Given the description of an element on the screen output the (x, y) to click on. 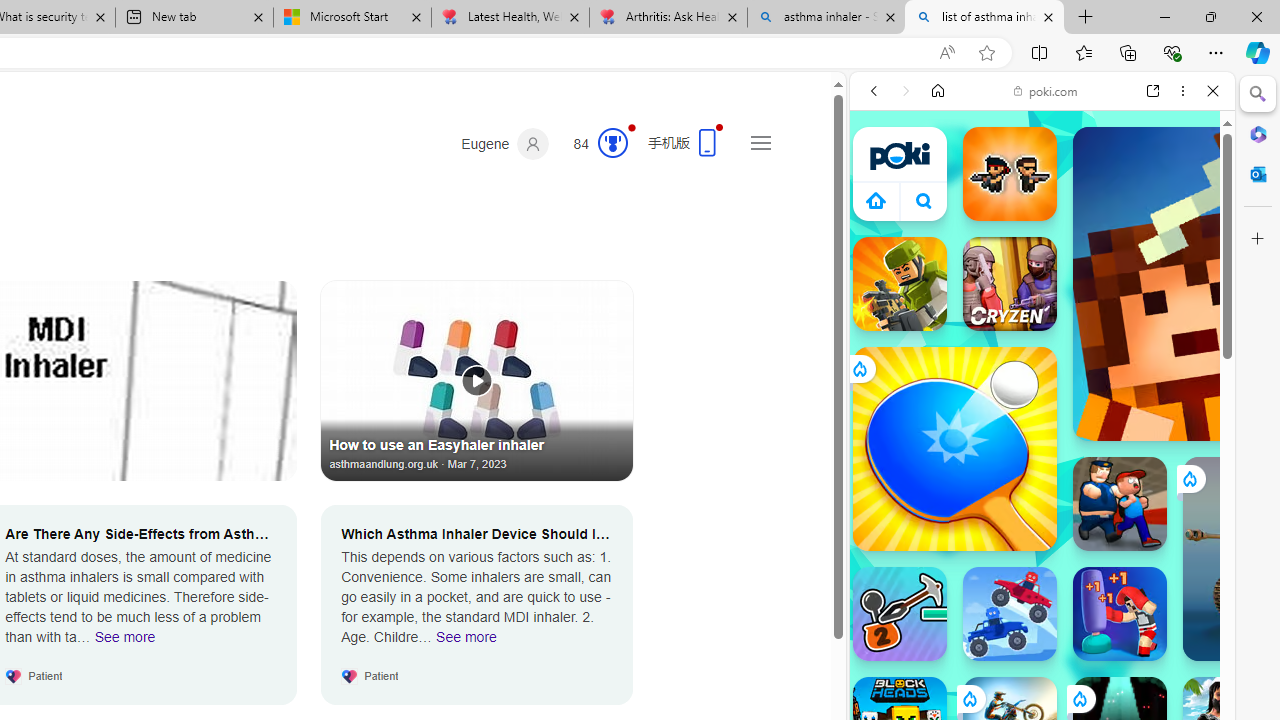
Forward (906, 91)
IMAGES (939, 228)
Search Filter, Search Tools (1093, 228)
Two Player Games (1042, 568)
Show More Two Player Games (1164, 570)
Microsoft Rewards 84 (594, 143)
Search the web (1051, 137)
Battle Wheels (1009, 613)
Eugene (505, 143)
Kour.io Kour.io (899, 283)
